Given the description of an element on the screen output the (x, y) to click on. 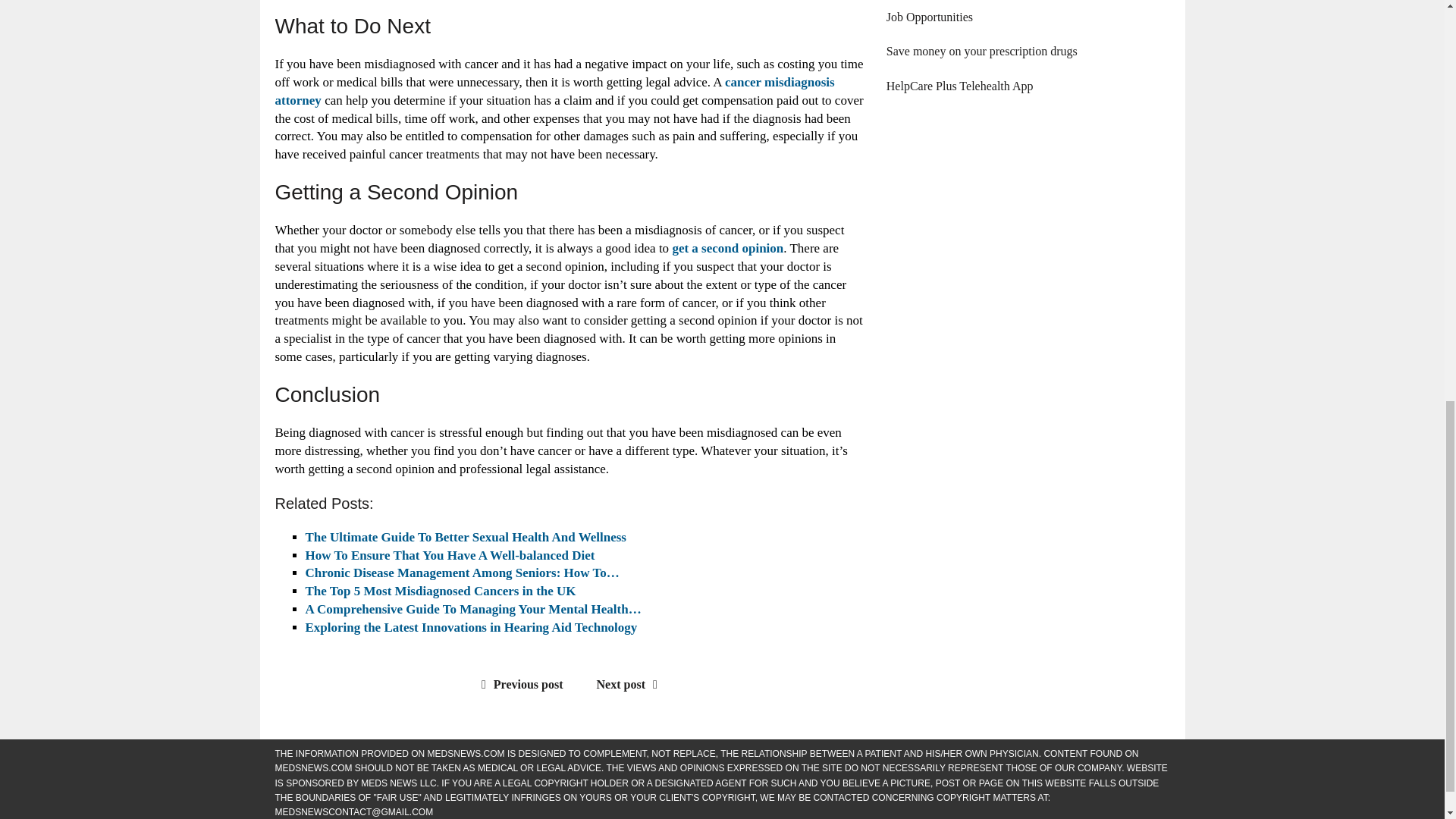
Next post (630, 684)
Previous post (518, 684)
cancer misdiagnosis attorney (554, 91)
The Ultimate Guide To Better Sexual Health And Wellness (465, 536)
How To Ensure That You Have A Well-balanced Diet (449, 554)
Save money on your prescription drugs (981, 51)
The Top 5 Most Misdiagnosed Cancers in the UK (439, 590)
Exploring the Latest Innovations in Hearing Aid Technology  (472, 626)
get a second opinion (727, 247)
Job Opportunities (929, 16)
